Given the description of an element on the screen output the (x, y) to click on. 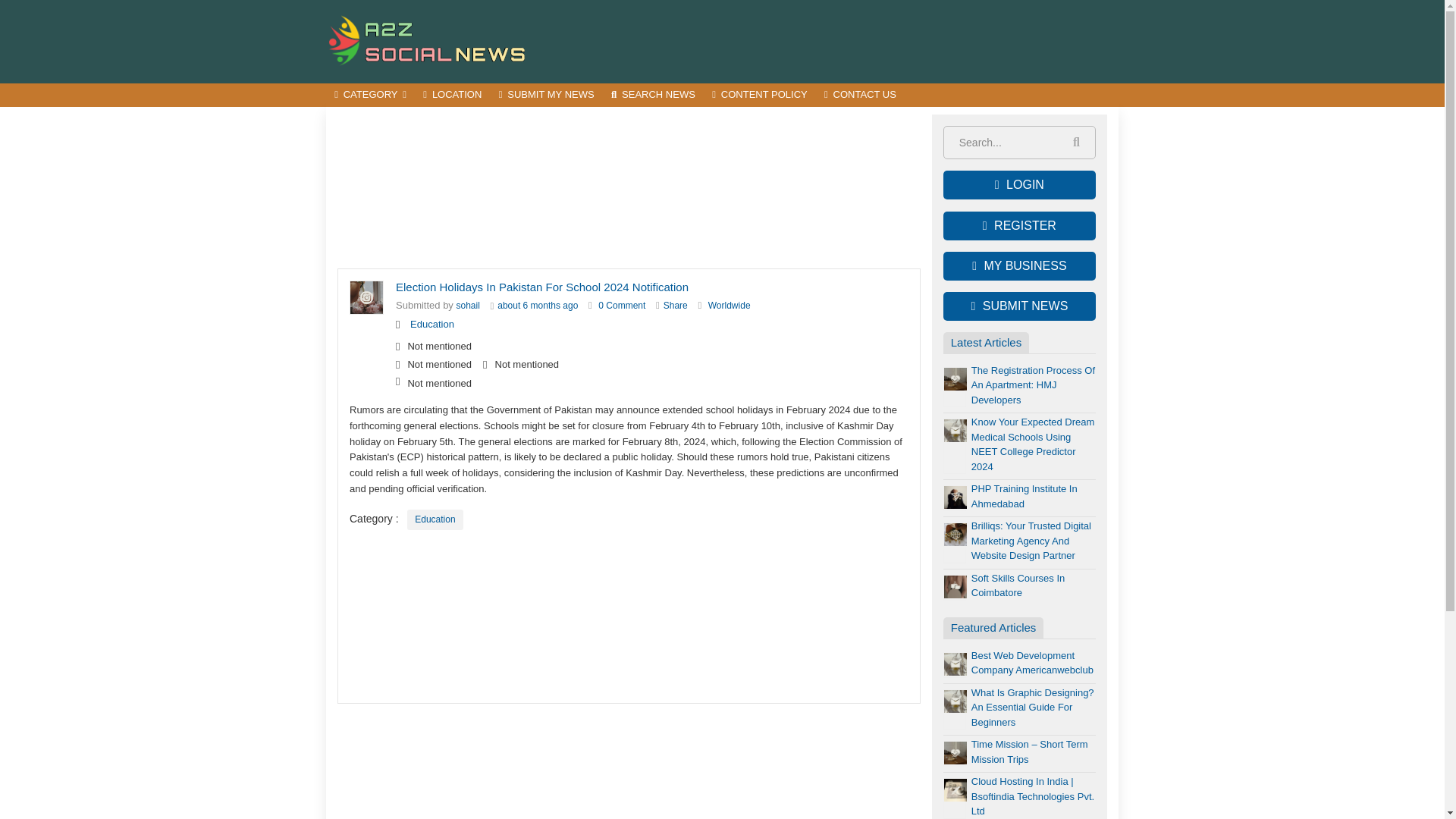
Advertisement (628, 617)
MY BUSINESS (1019, 265)
CONTACT US (859, 95)
about 6 months ago (537, 305)
The Registration Process Of An Apartment: HMJ Developers (1032, 384)
SEARCH NEWS (652, 95)
Election Holidays In Pakistan For School 2024 Notification (621, 305)
malik sohail (468, 305)
CONTENT POLICY (759, 95)
REGISTER (1019, 225)
CATEGORY (370, 95)
LOGIN (1019, 184)
Share (675, 305)
Education (432, 324)
